Given the description of an element on the screen output the (x, y) to click on. 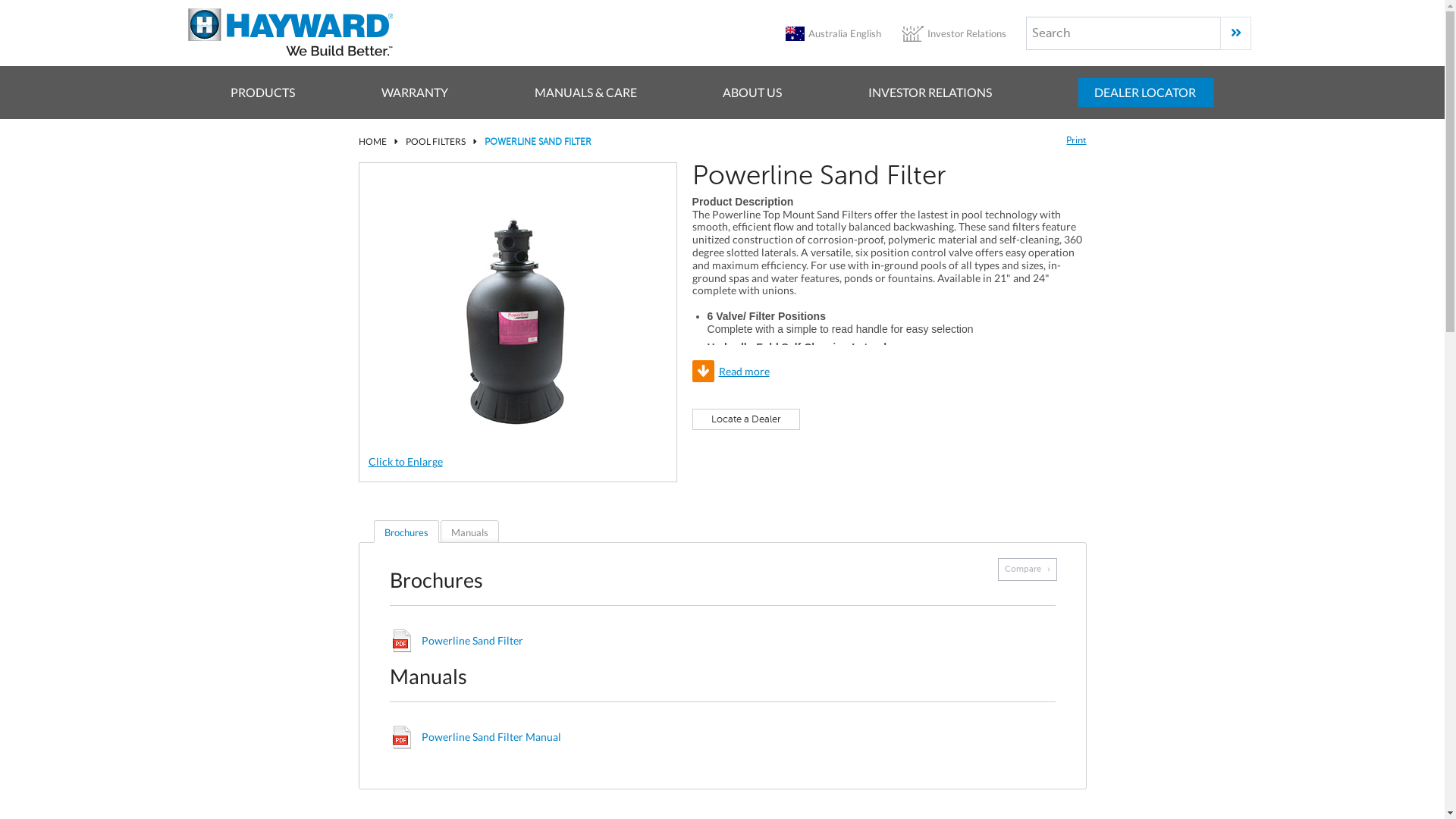
MANUALS & CARE Element type: text (585, 92)
Locate a Dealer Element type: text (746, 418)
INVESTOR RELATIONS Element type: text (929, 92)
Click to Enlarge Element type: text (405, 461)
WARRANTY Element type: text (414, 92)
Print Element type: text (1075, 139)
Powerline Sand Filter Element type: text (472, 639)
ABOUT US Element type: text (751, 92)
Manuals Element type: text (469, 531)
PRODUCTS Element type: text (262, 92)
       DEALER LOCATOR         Element type: text (1146, 92)
Read more Element type: text (889, 371)
Brochures Element type: text (406, 531)
POOL FILTERS Element type: text (434, 141)
HOME Element type: text (371, 141)
Image for Powerline Sand Filter from Hayward Pool Australia Element type: hover (517, 322)
Powerline Sand Filter Manual Element type: text (491, 736)
Investor Relations Element type: text (965, 33)
INVESTOR RELATIONS Element type: text (929, 92)
